Given the description of an element on the screen output the (x, y) to click on. 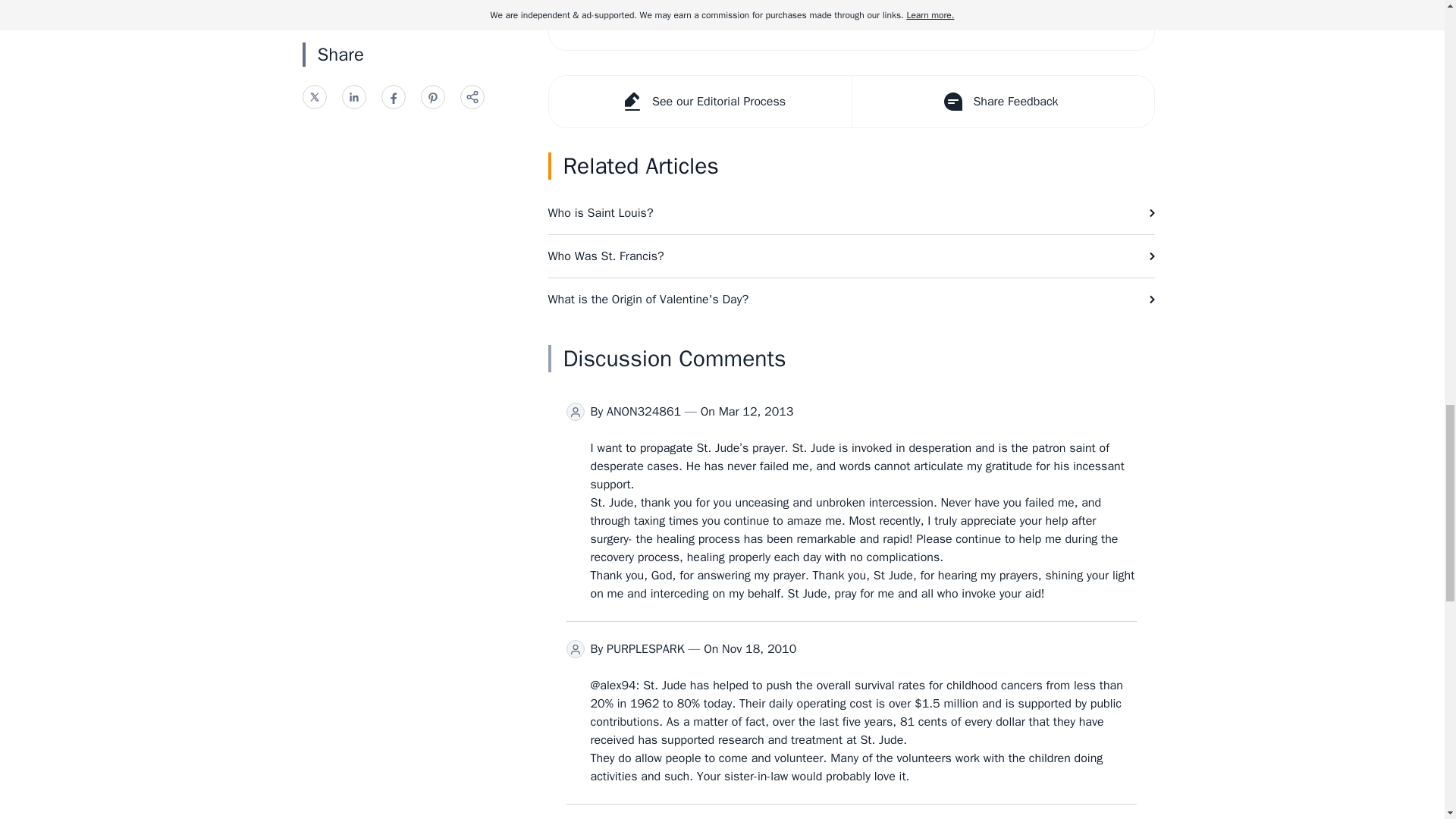
See our Editorial Process (699, 101)
Who is Saint Louis? (850, 212)
What is the Origin of Valentine's Day? (850, 299)
Share Feedback (1001, 101)
Who Was St. Francis? (850, 256)
